Given the description of an element on the screen output the (x, y) to click on. 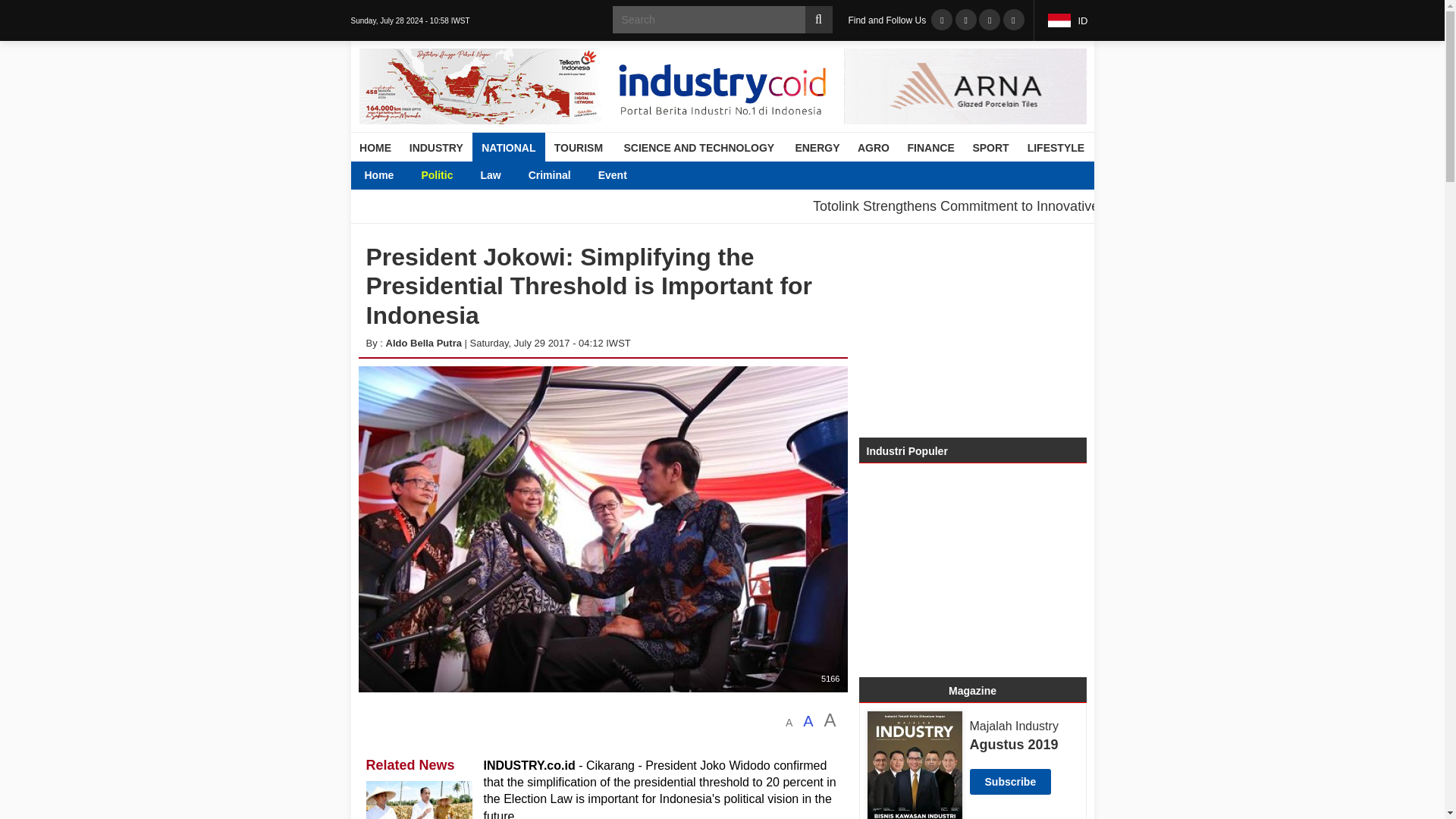
Hotel (524, 175)
Transportation (663, 175)
Maritime (665, 175)
NATIONAL (507, 147)
HOME (374, 147)
MICE (648, 175)
SCIENCE AND TECHNOLOGY (698, 147)
Paper (996, 175)
Tools (802, 175)
Culinary (586, 175)
Event (612, 175)
Telecommunication (548, 175)
Automotive (450, 175)
INDUSTRY (435, 147)
Law (489, 175)
